Given the description of an element on the screen output the (x, y) to click on. 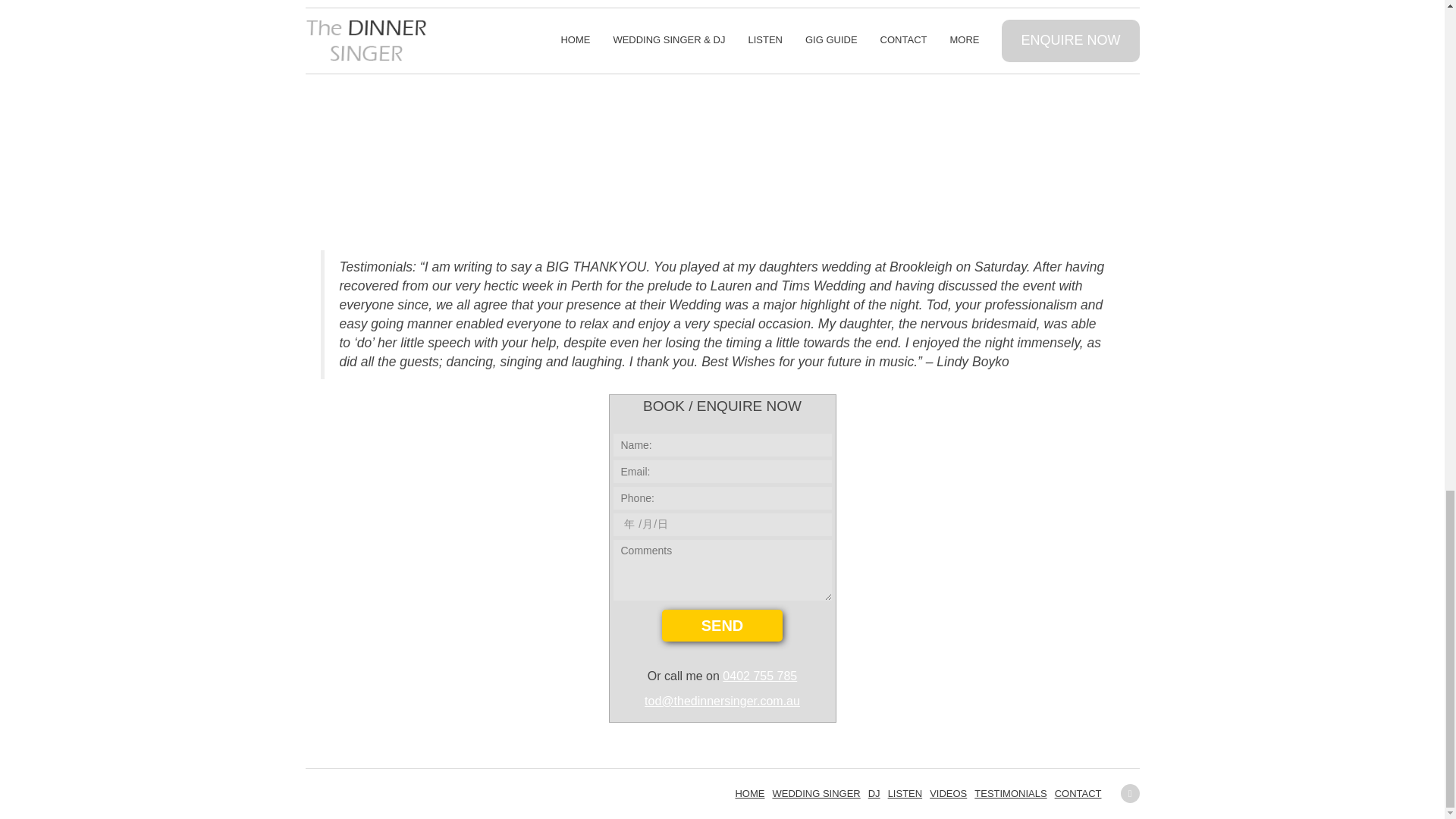
LISTEN (905, 793)
TESTIMONIALS (1010, 793)
VIDEOS (948, 793)
HOME (749, 793)
DJ (873, 793)
0402 755 785 (759, 675)
WEDDING SINGER (815, 793)
SEND (722, 625)
SEND (722, 625)
CONTACT (1078, 793)
